Given the description of an element on the screen output the (x, y) to click on. 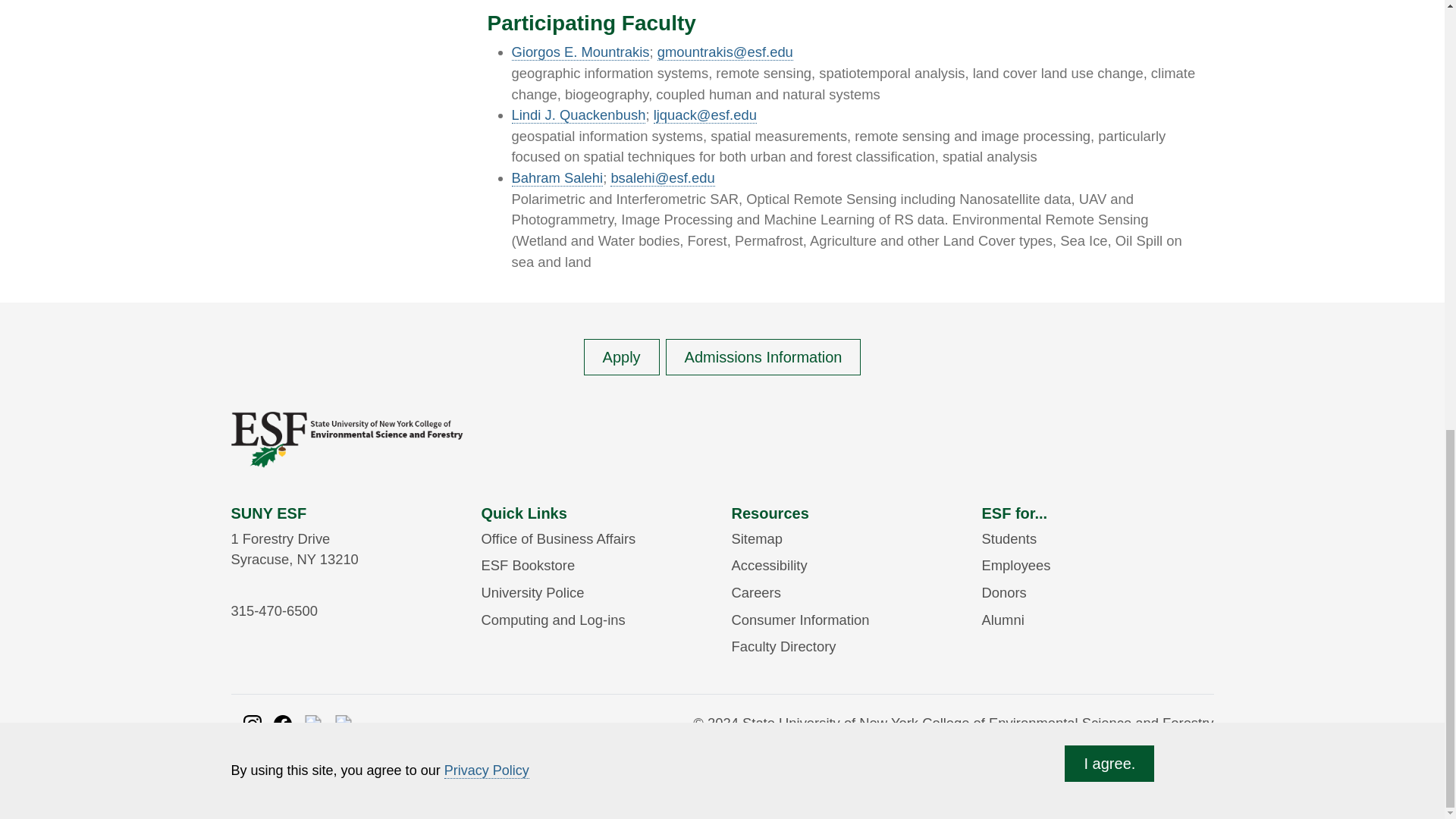
sunyesf on LinkedIn (342, 722)
suny.esf on Instagram (251, 722)
sunyesf on Facebook (282, 722)
